Given the description of an element on the screen output the (x, y) to click on. 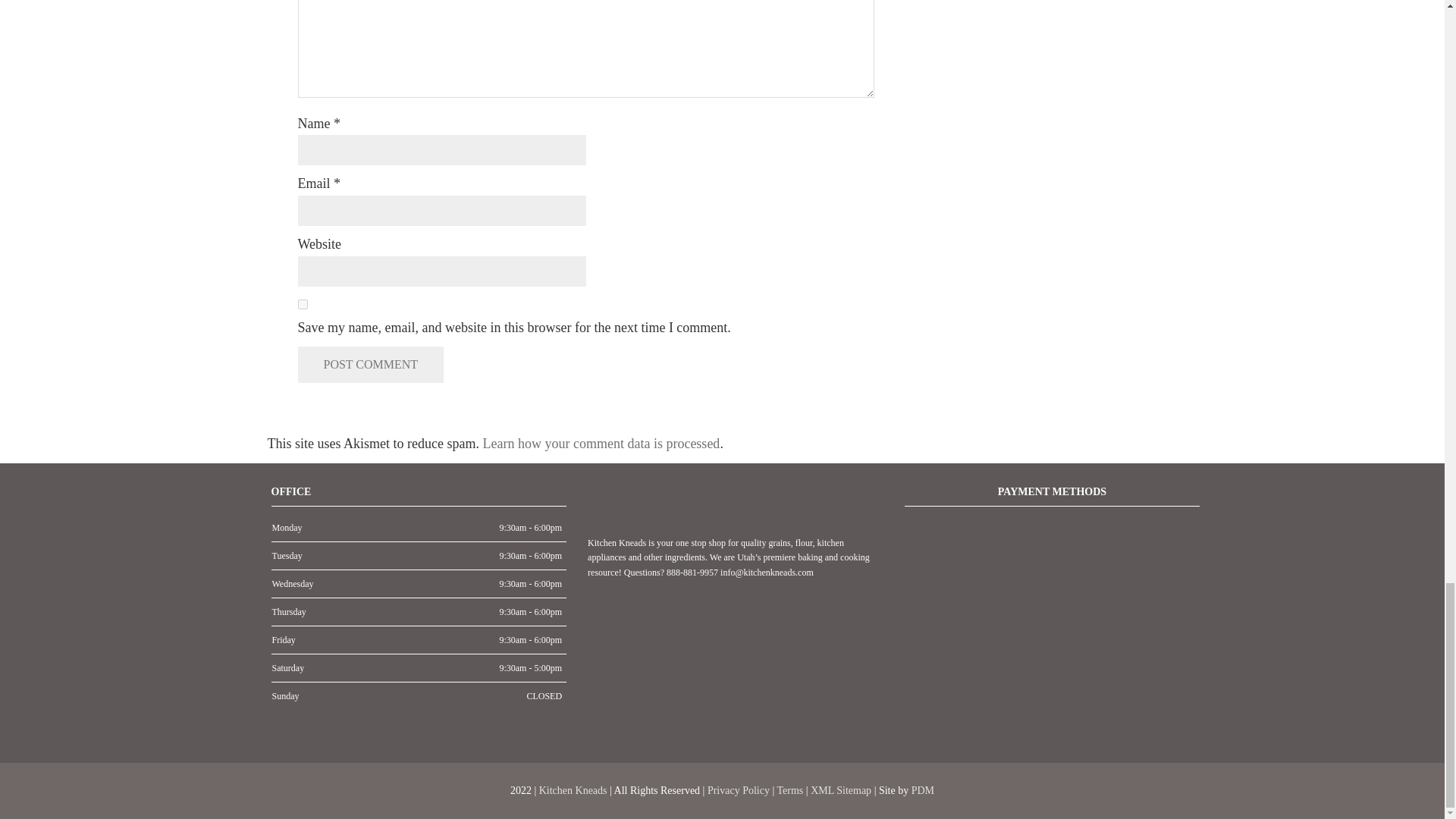
yes (302, 304)
Post Comment (370, 364)
Ogden SEO (922, 790)
